Given the description of an element on the screen output the (x, y) to click on. 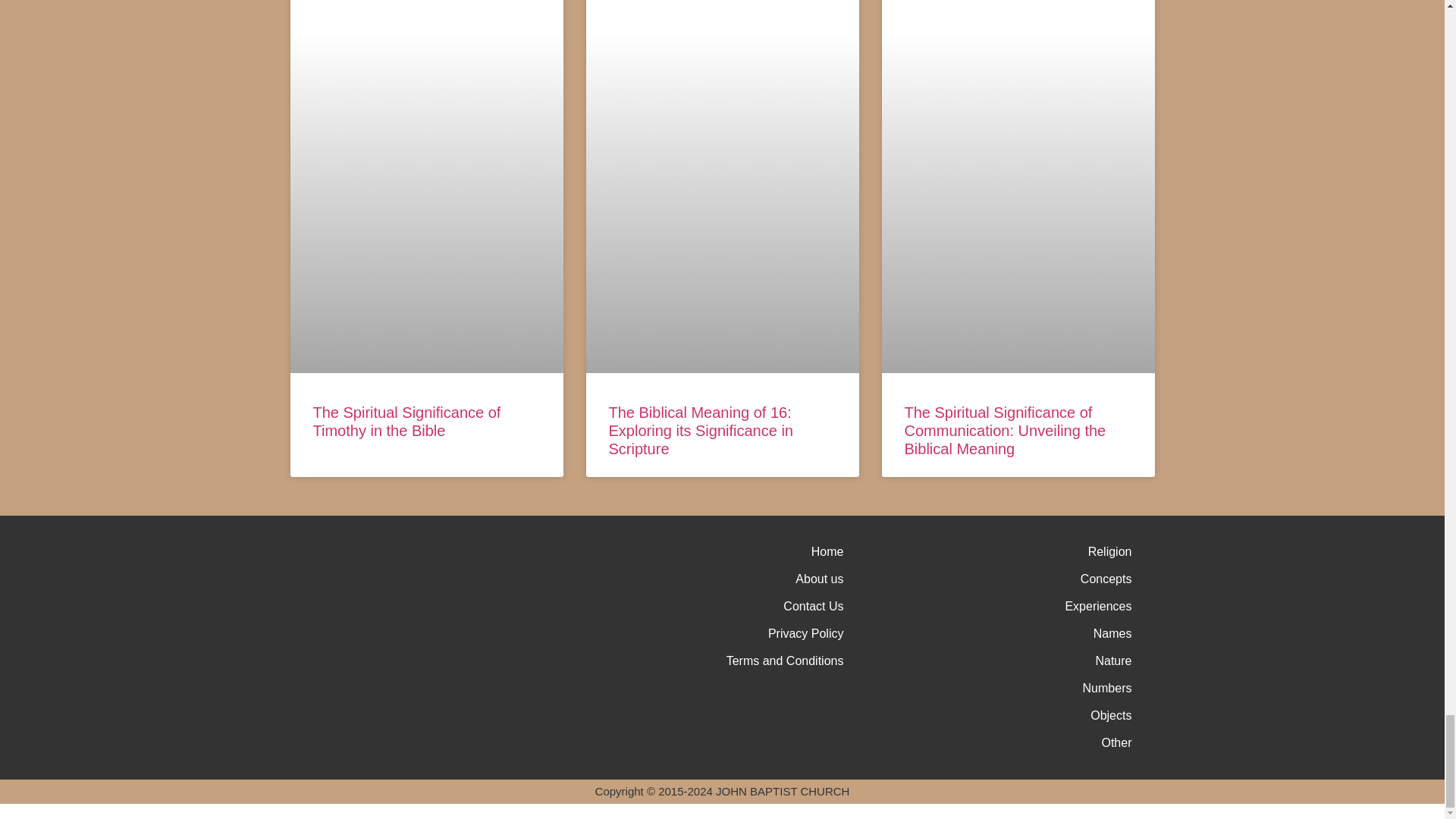
The Spiritual Significance of Timothy in the Bible (406, 421)
